Given the description of an element on the screen output the (x, y) to click on. 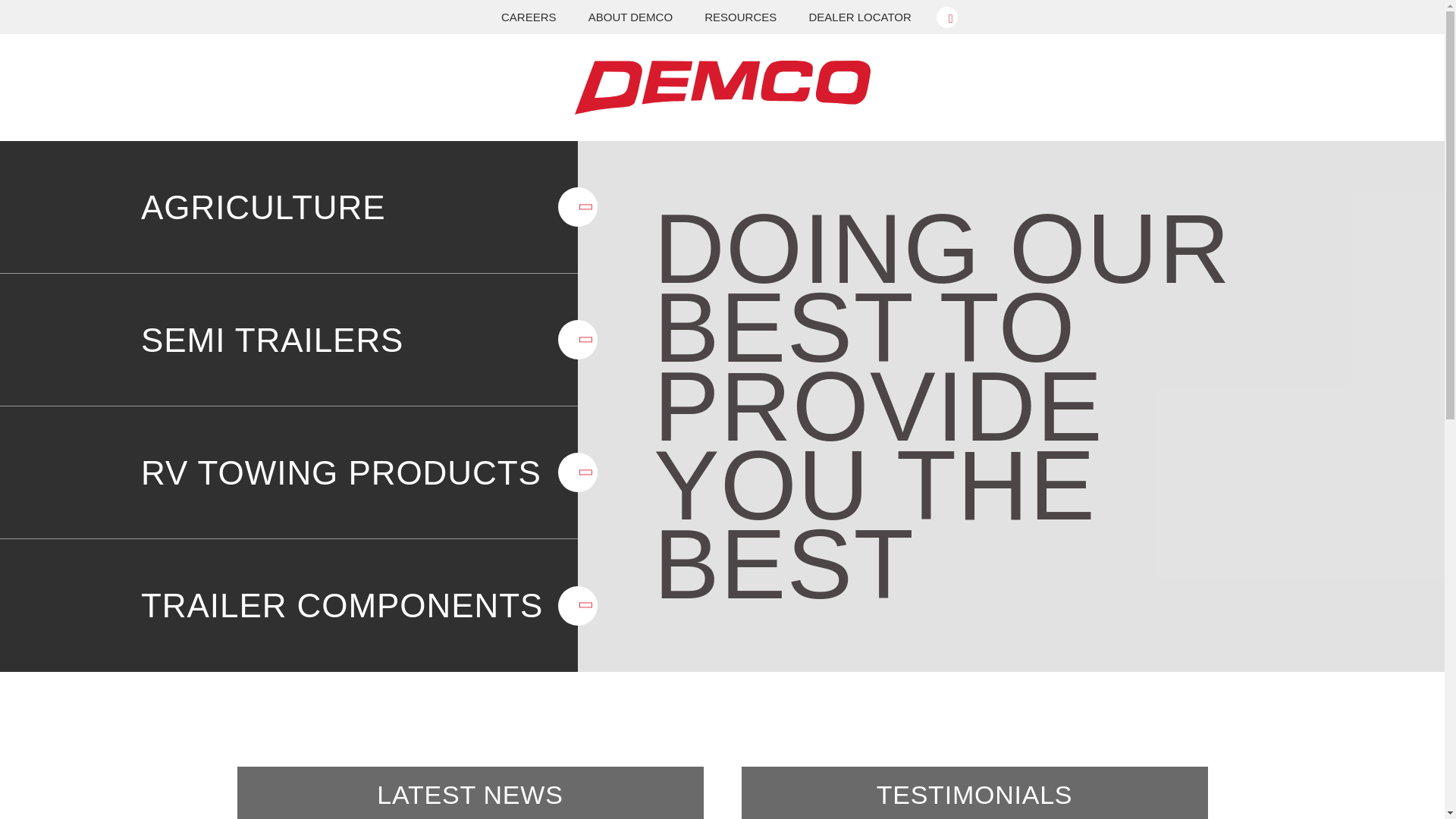
ABOUT DEMCO (630, 16)
CAREERS (528, 16)
DEALER LOCATOR (859, 16)
SEMI TRAILERS (289, 339)
RESOURCES (740, 16)
AGRICULTURE EQUIPMENT (289, 206)
